Given the description of an element on the screen output the (x, y) to click on. 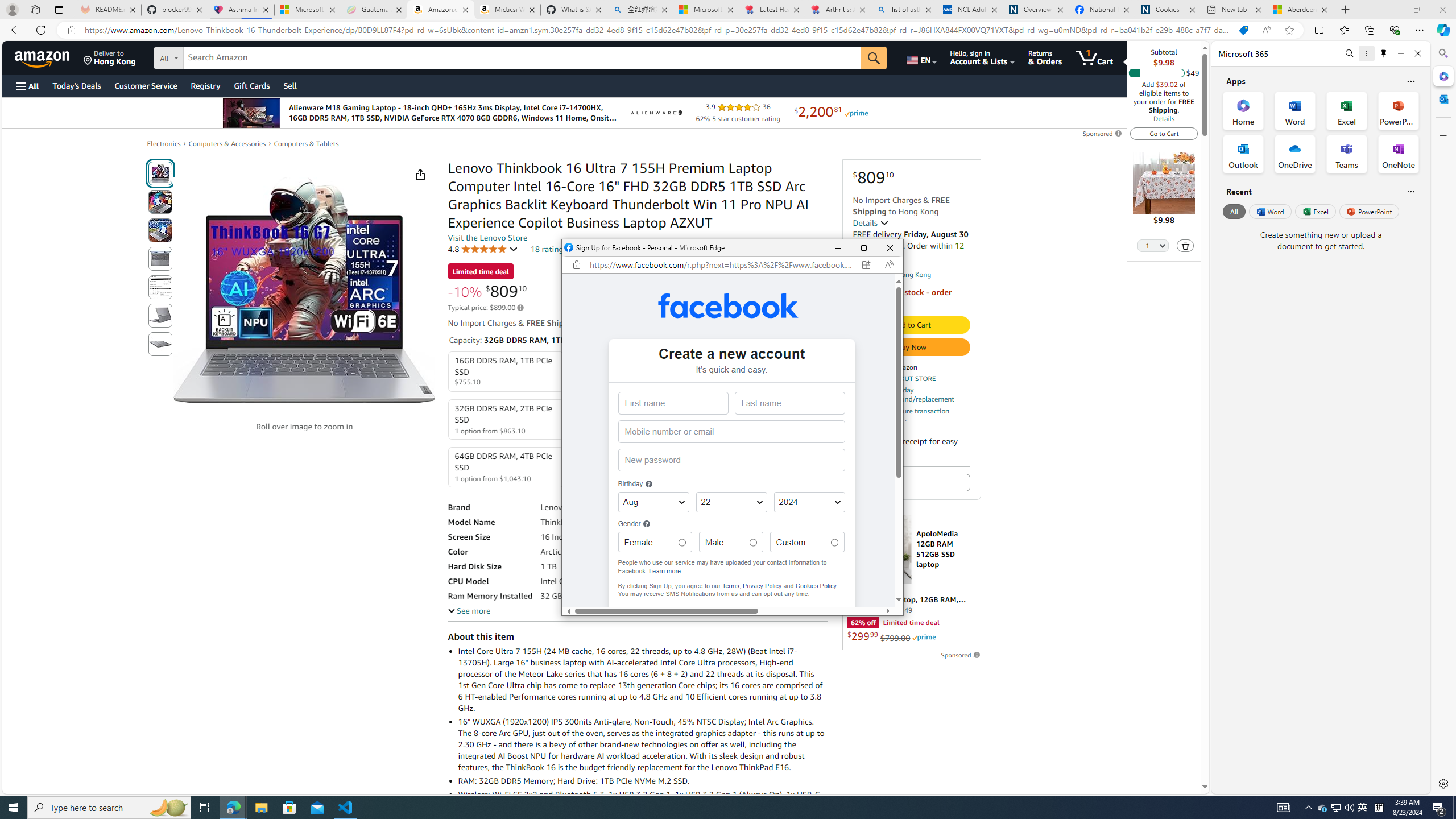
Maximize (863, 248)
First name (672, 403)
New password (730, 459)
Cookies | About | NICE (1167, 9)
Prime (923, 637)
Terms (730, 584)
Year (808, 502)
